Given the description of an element on the screen output the (x, y) to click on. 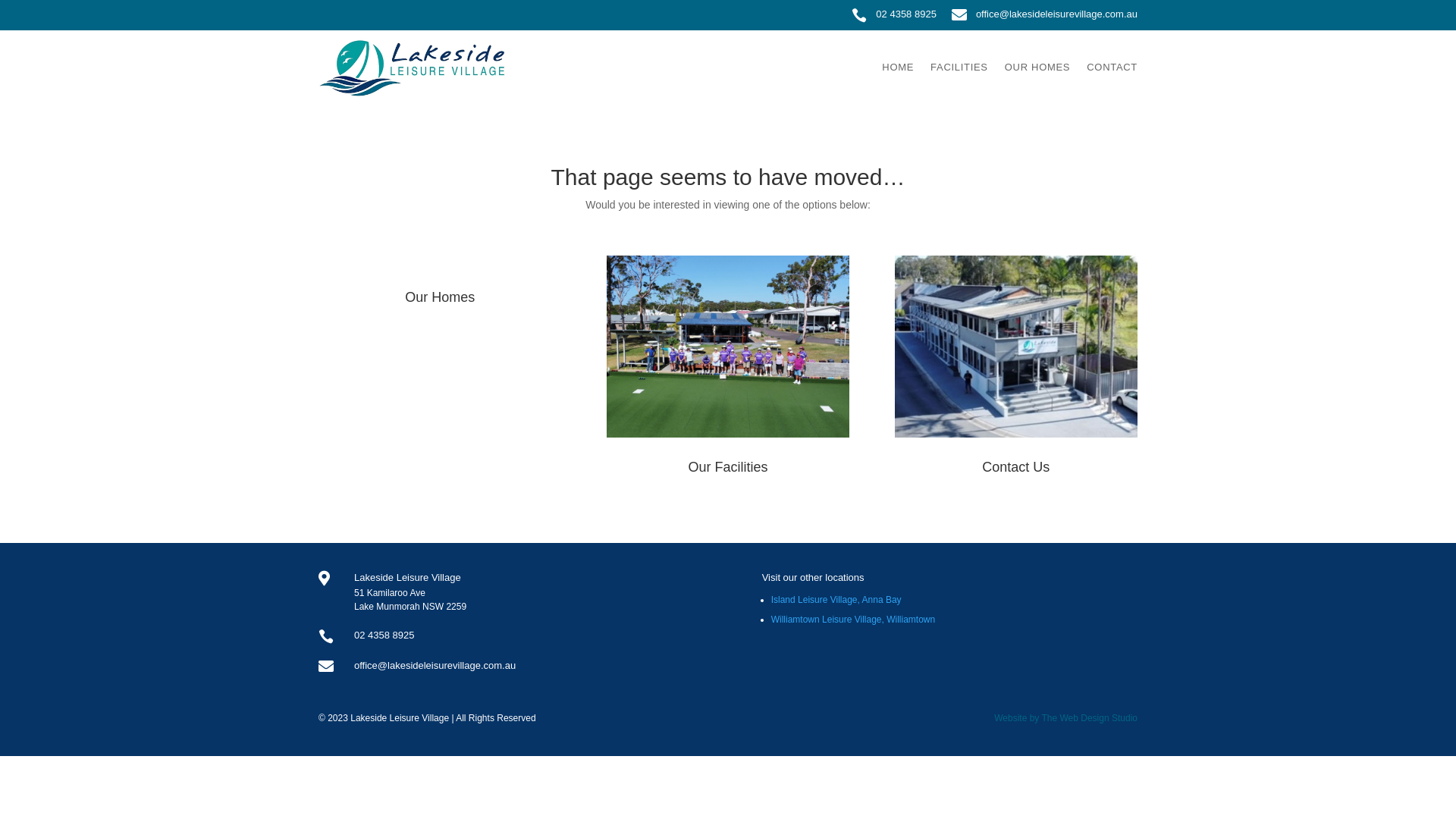
Our Facilities Element type: text (727, 466)
Contact Us Element type: text (1015, 466)
02 4358 8925 Element type: text (384, 634)
office@lakesideleisurevillage.com.au Element type: text (434, 665)
The Web Design Studio Element type: text (1089, 717)
FACILITIES Element type: text (959, 67)
HOME Element type: text (897, 67)
CONTACT Element type: text (1111, 67)
02 4358 8925 Element type: text (905, 13)
OUR HOMES Element type: text (1037, 67)
Williamtown Leisure Village, Williamtown Element type: text (853, 619)
Island Leisure Village, Anna Bay Element type: text (836, 599)
office@lakesideleisurevillage.com.au Element type: text (1056, 13)
Our Homes Element type: text (439, 296)
